Given the description of an element on the screen output the (x, y) to click on. 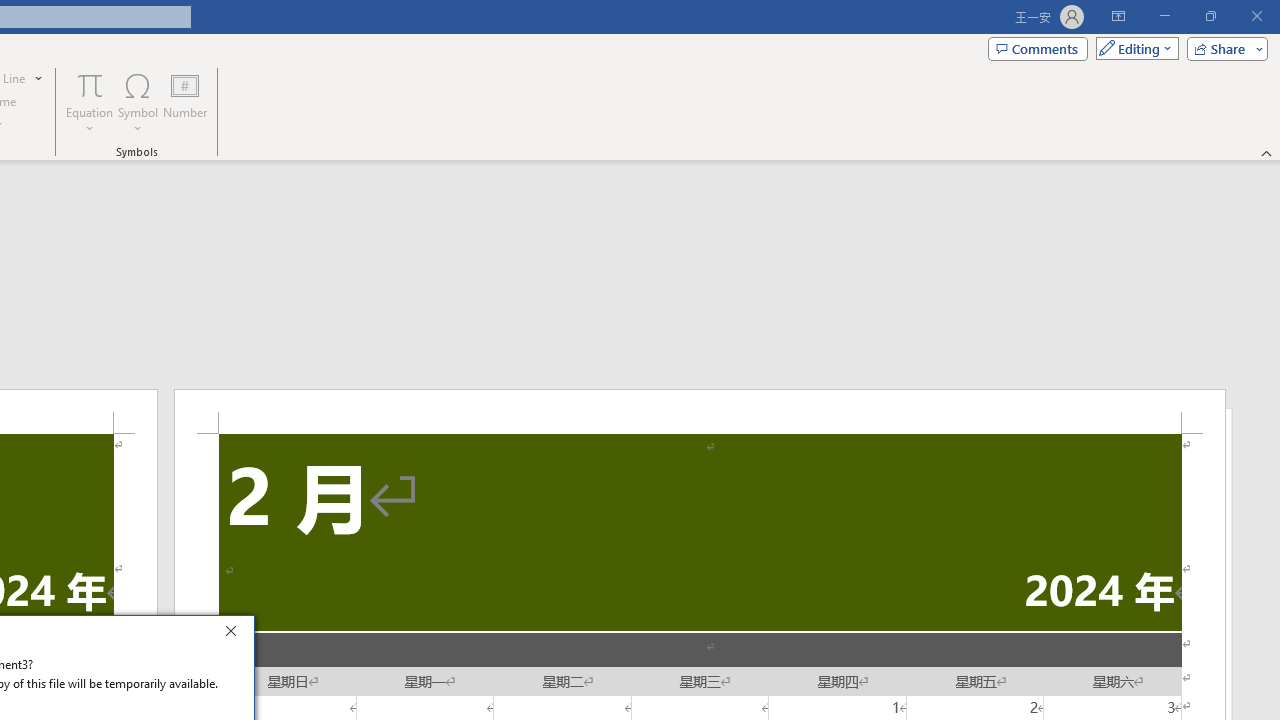
Number... (185, 102)
Symbol (138, 102)
Equation (90, 102)
Equation (90, 84)
